Given the description of an element on the screen output the (x, y) to click on. 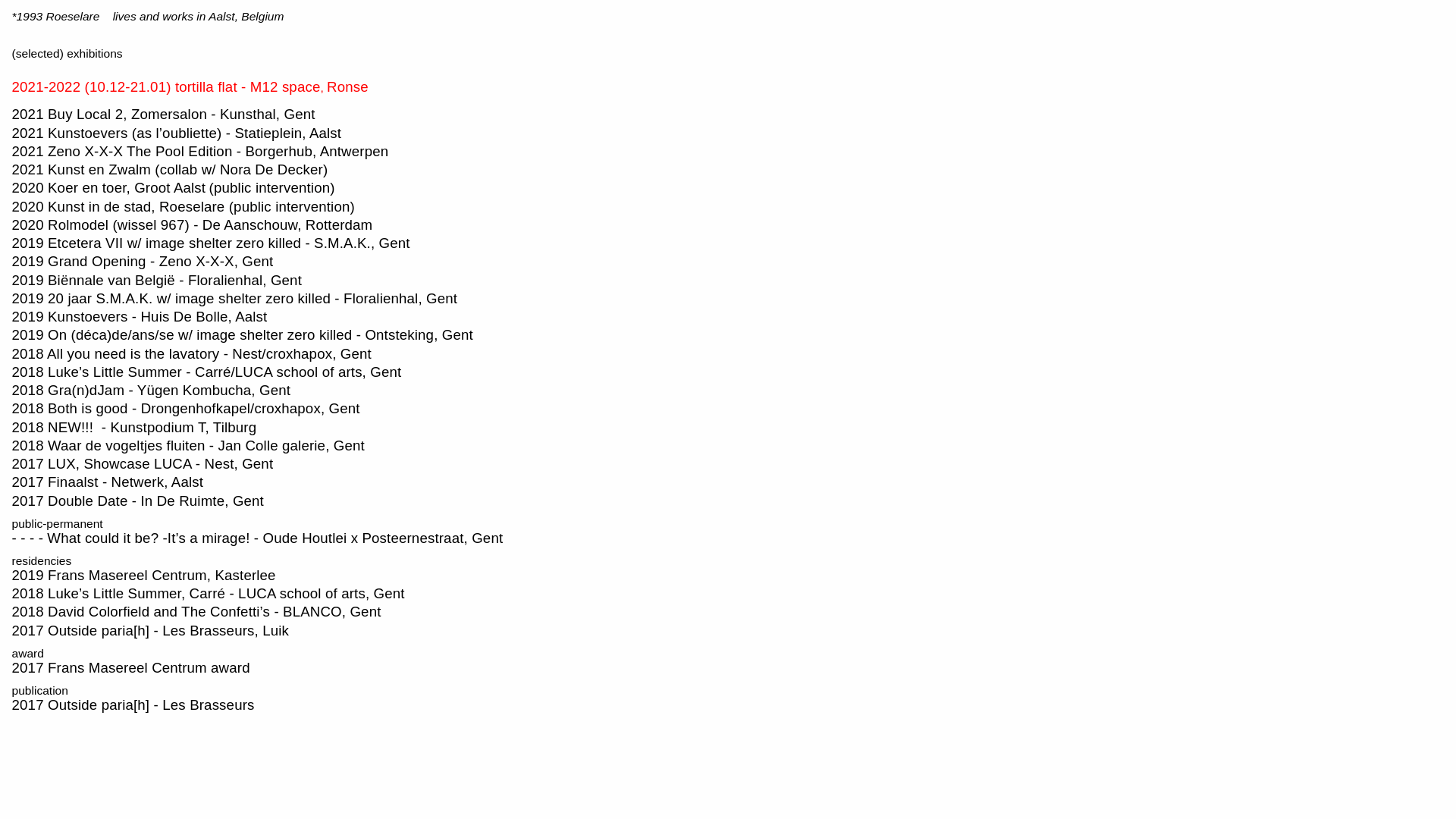
12 space Element type: text (290, 87)
